Given the description of an element on the screen output the (x, y) to click on. 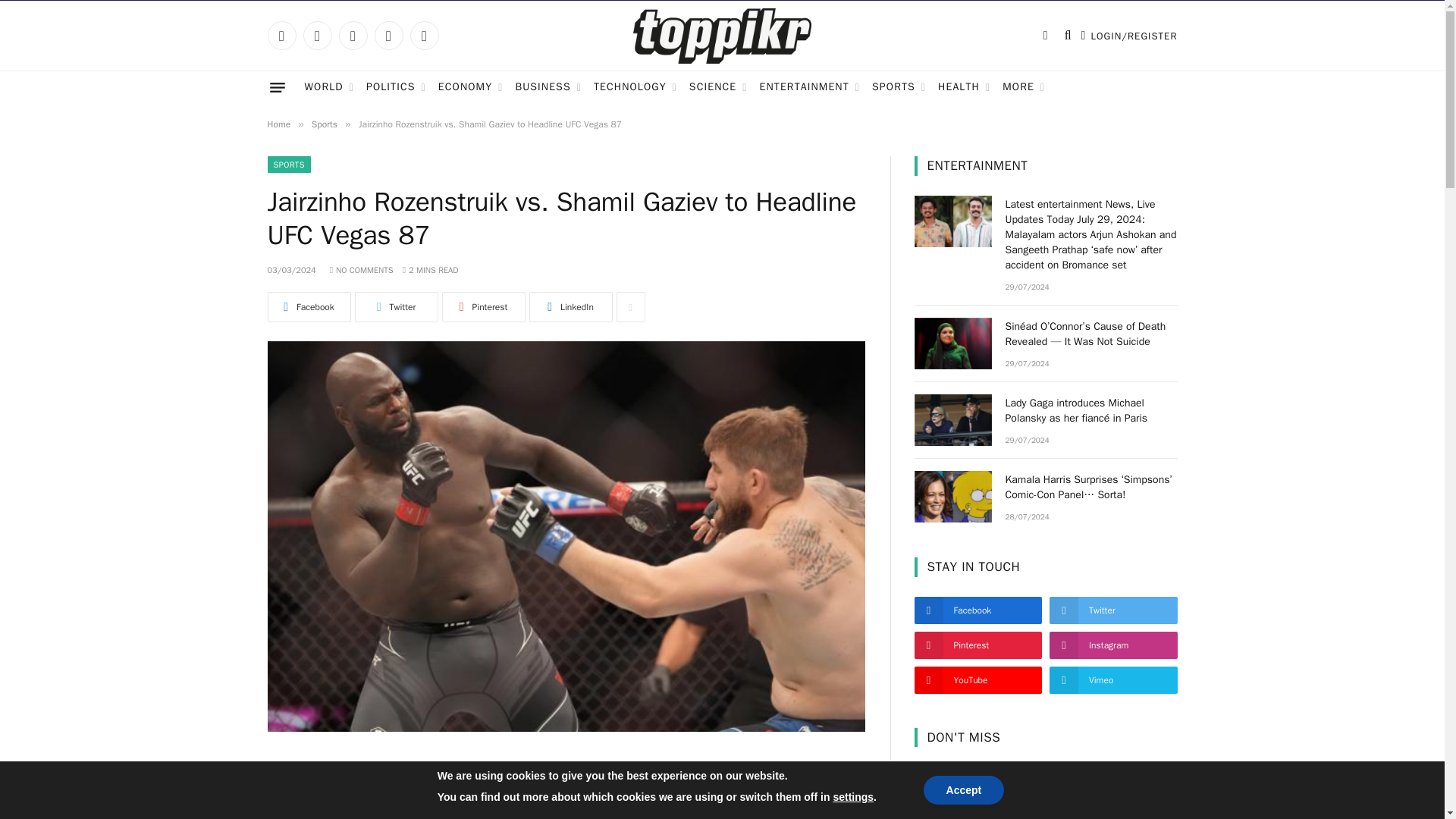
Switch to Dark Design - easier on eyes. (1045, 35)
Facebook (280, 35)
Toppikr (721, 35)
